Given the description of an element on the screen output the (x, y) to click on. 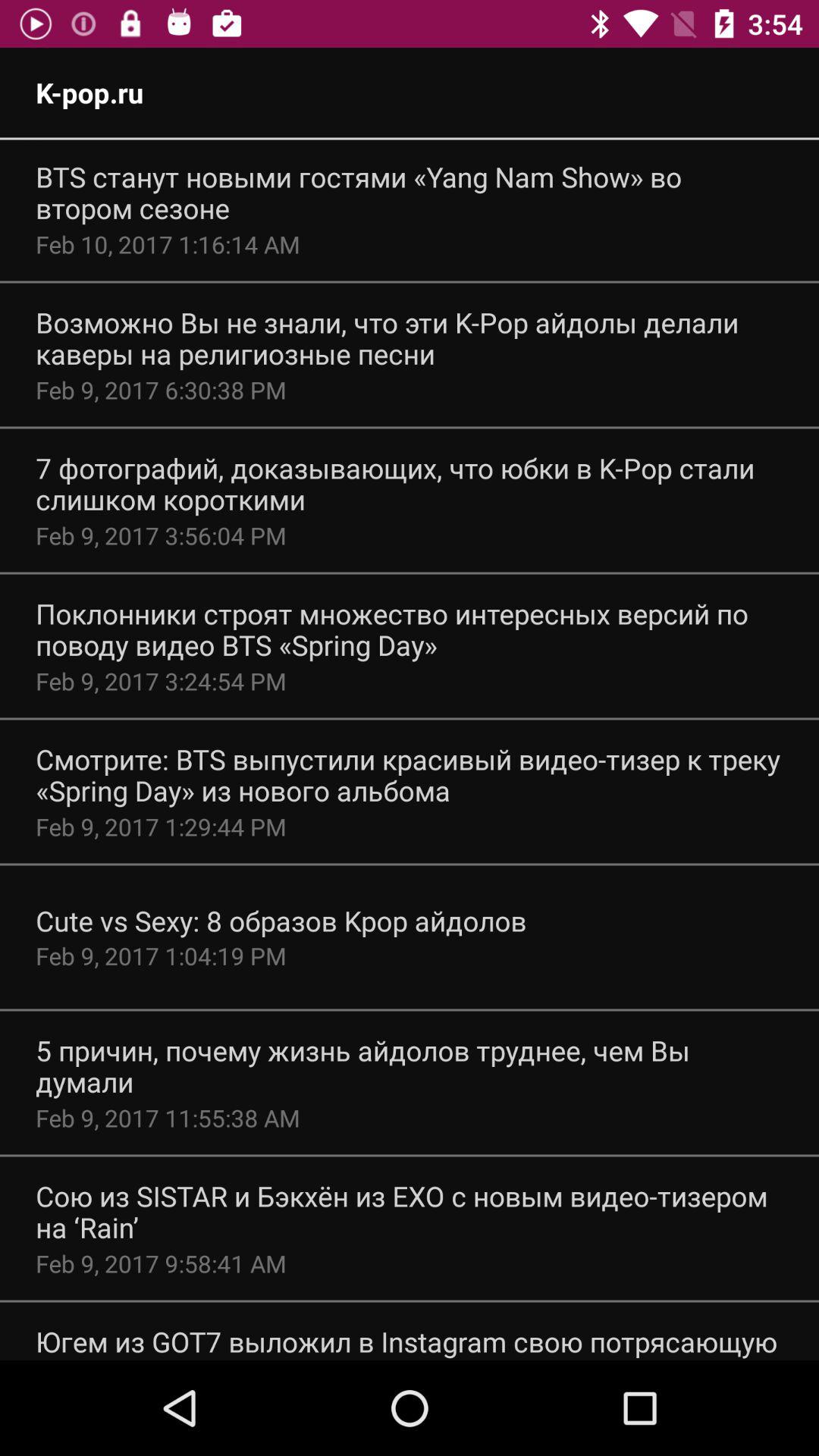
flip to cute vs sexy (280, 920)
